Given the description of an element on the screen output the (x, y) to click on. 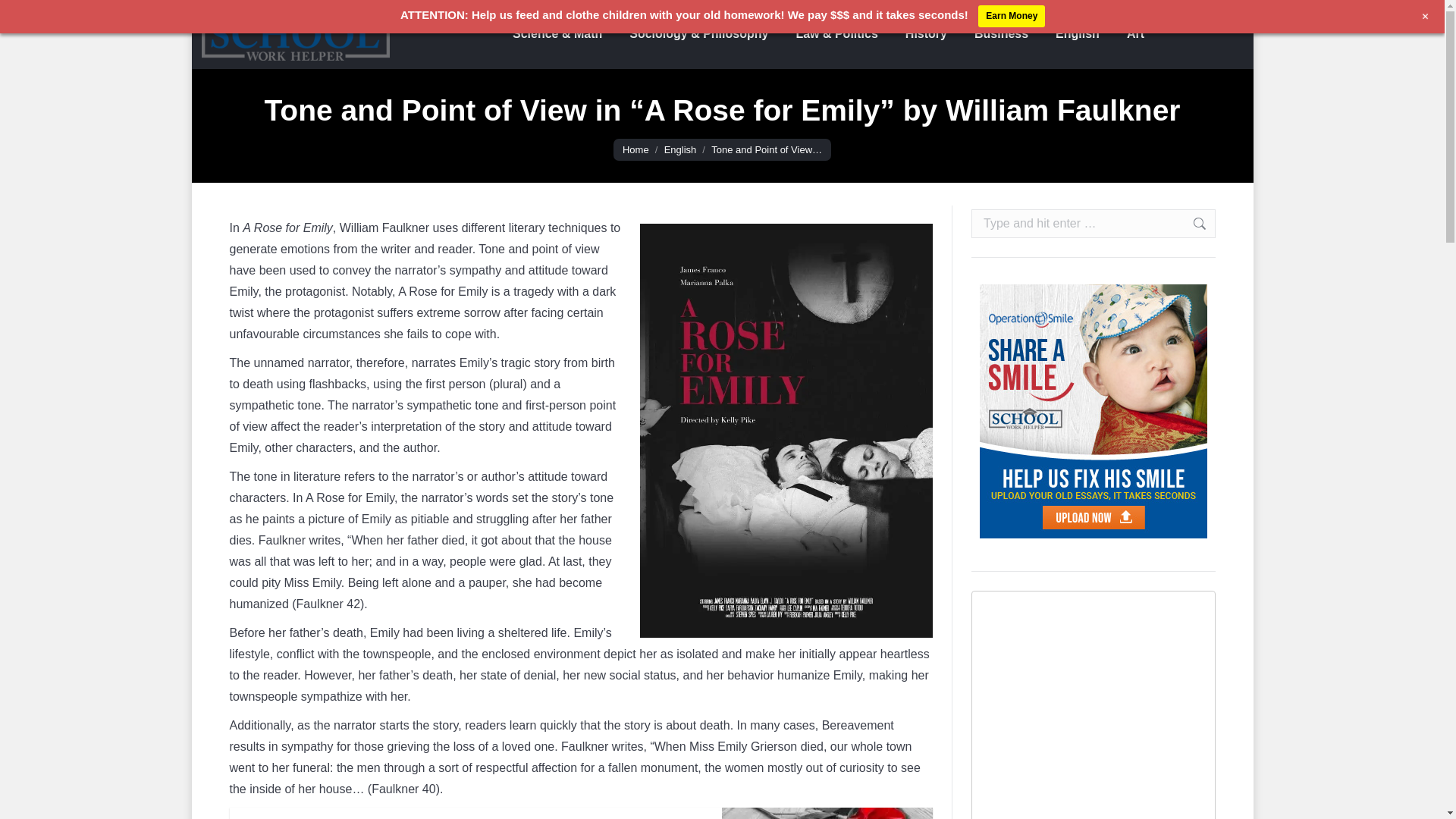
English (680, 149)
English (680, 149)
Home (636, 149)
Go! (1191, 223)
Business (1000, 34)
Home (636, 149)
Post Comment (580, 813)
Go! (52, 16)
Go! (1191, 223)
